Given the description of an element on the screen output the (x, y) to click on. 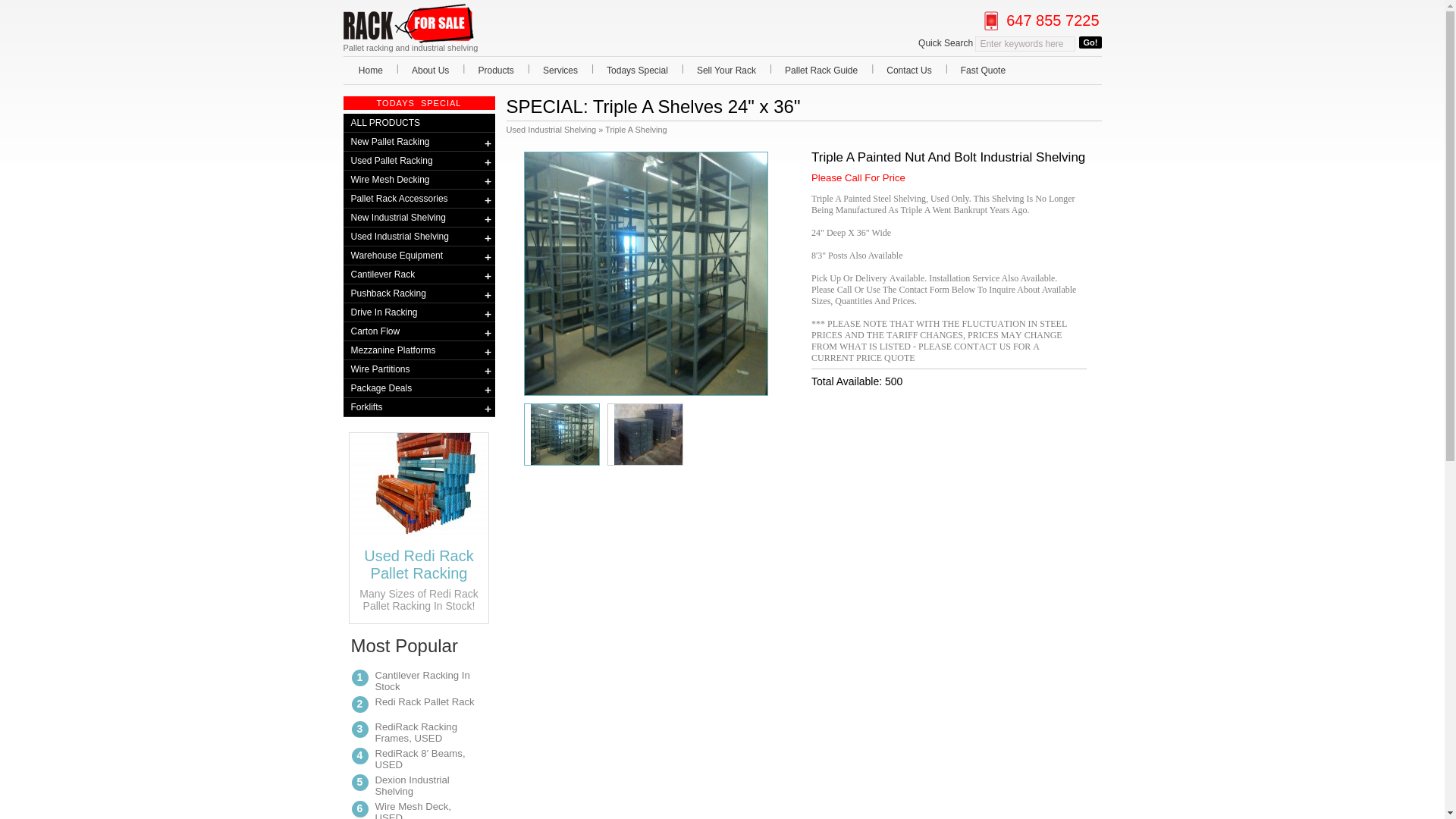
Services (560, 70)
 Go!  (1089, 42)
Todays Special (637, 70)
Used Pallet Racking (418, 160)
ALL PRODUCTS (418, 122)
New Pallet Racking (418, 141)
About Us (430, 70)
Enter keywords here (1025, 43)
SPECIAL: Triple A Shelves 24 (646, 273)
Contact Us (908, 70)
